Given the description of an element on the screen output the (x, y) to click on. 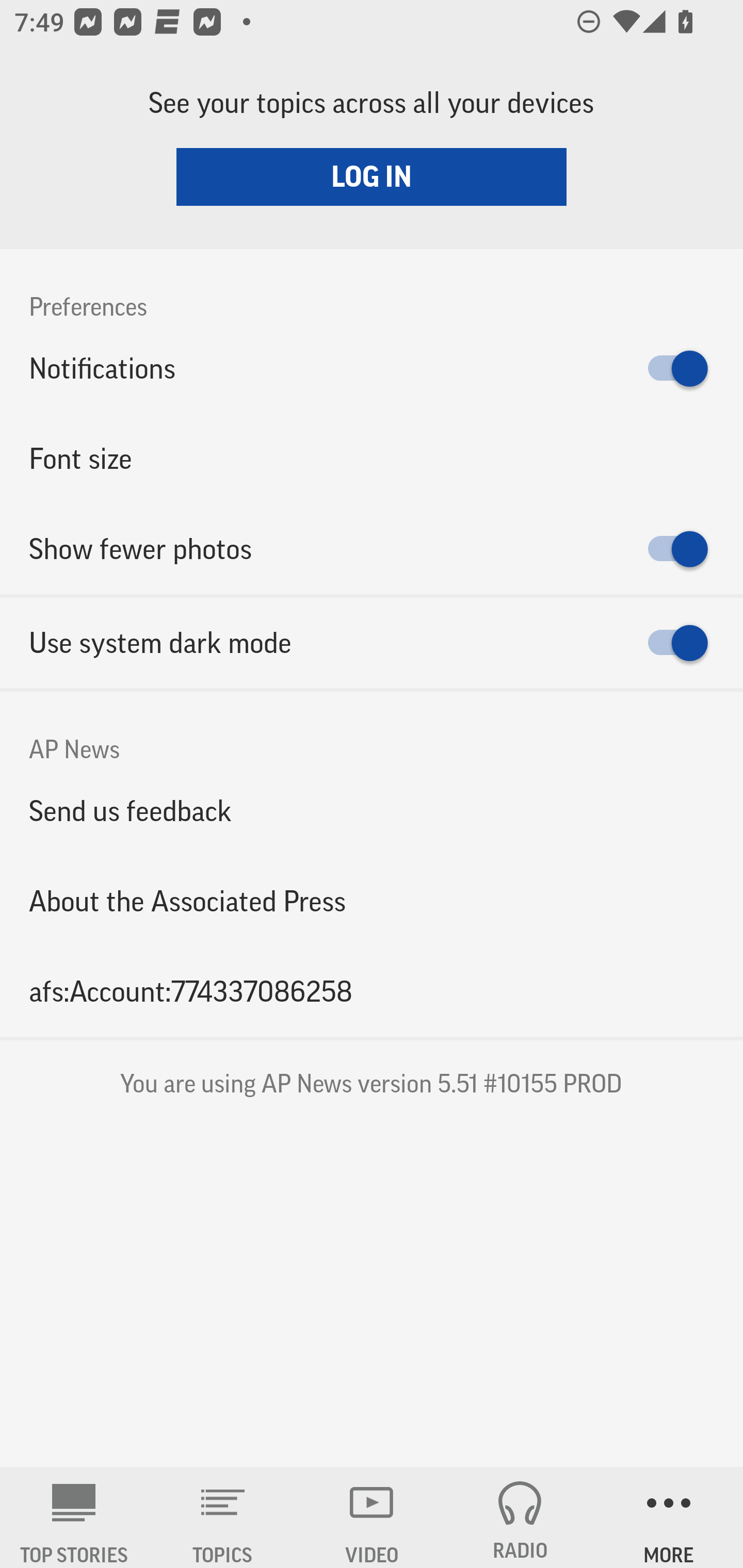
LOG IN (371, 176)
Notifications (371, 368)
Font size (371, 458)
Show fewer photos (371, 548)
Use system dark mode (371, 642)
Send us feedback (371, 810)
About the Associated Press (371, 901)
afs:Account:774337086258 (371, 991)
AP News TOP STORIES (74, 1517)
TOPICS (222, 1517)
VIDEO (371, 1517)
RADIO (519, 1517)
MORE (668, 1517)
